Given the description of an element on the screen output the (x, y) to click on. 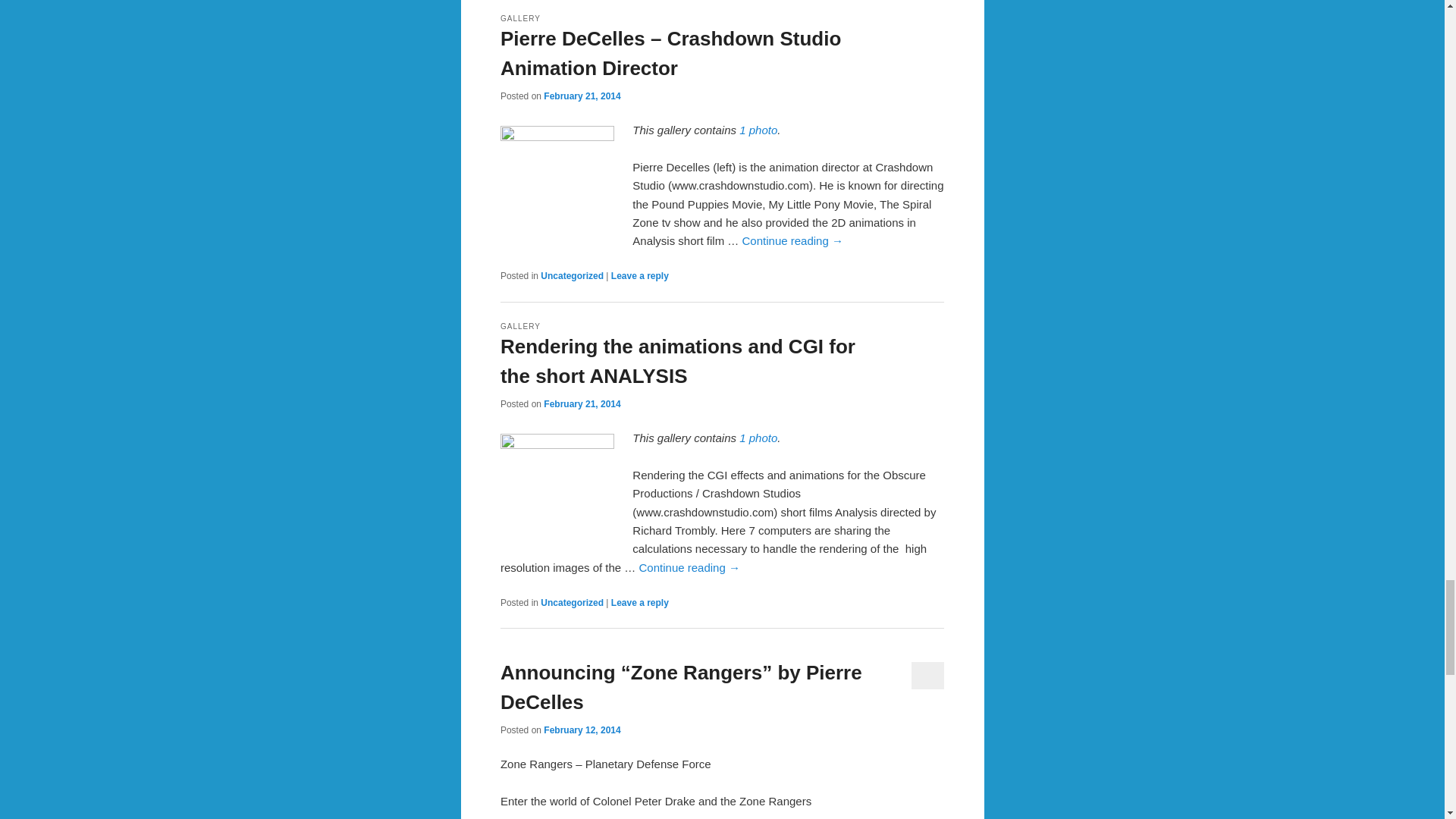
07:16 (581, 95)
07:10 (581, 403)
